Given the description of an element on the screen output the (x, y) to click on. 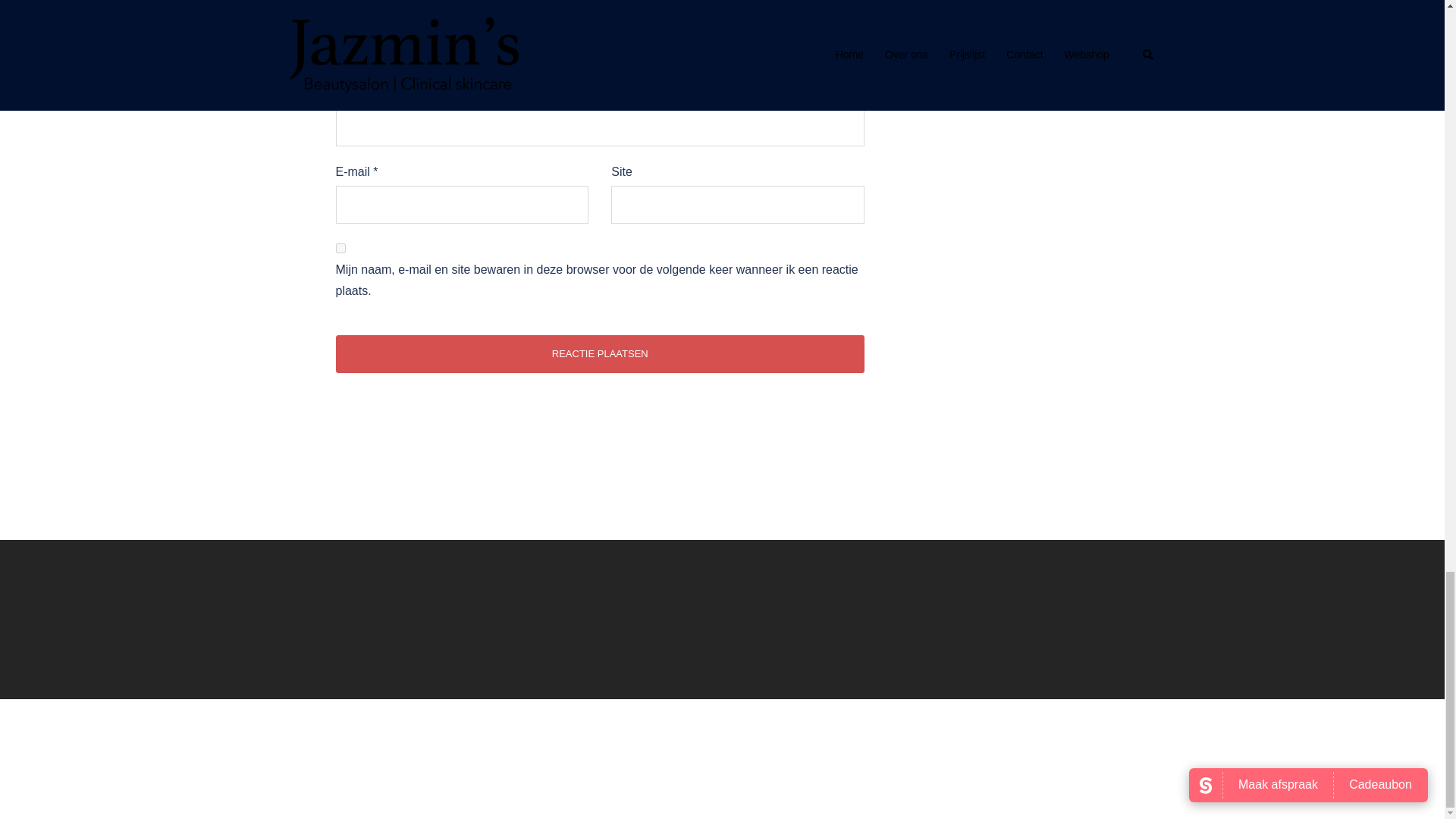
Reactie plaatsen (599, 353)
Reactie plaatsen (599, 353)
yes (339, 248)
